Given the description of an element on the screen output the (x, y) to click on. 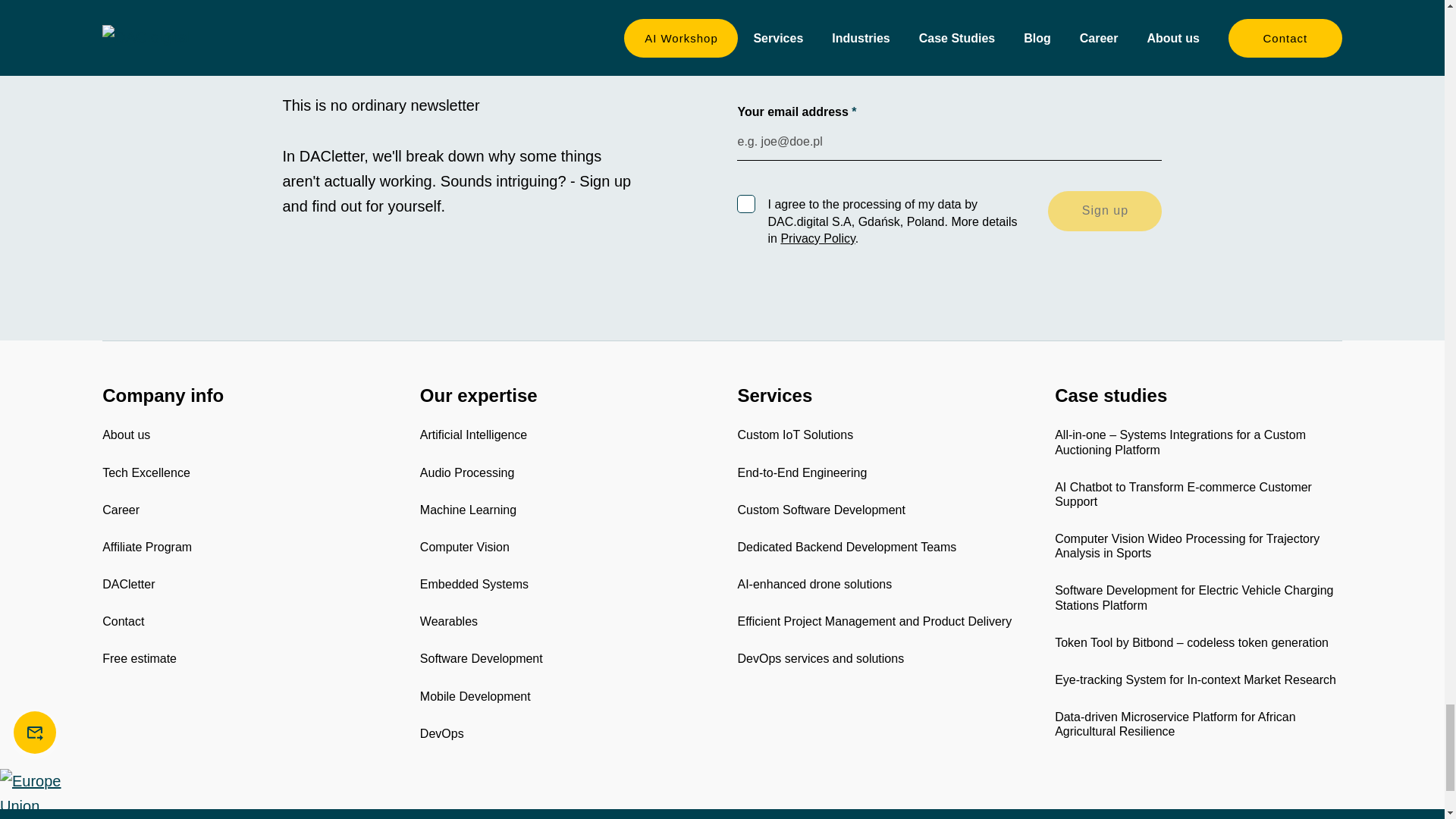
Sign up (1104, 210)
